Given the description of an element on the screen output the (x, y) to click on. 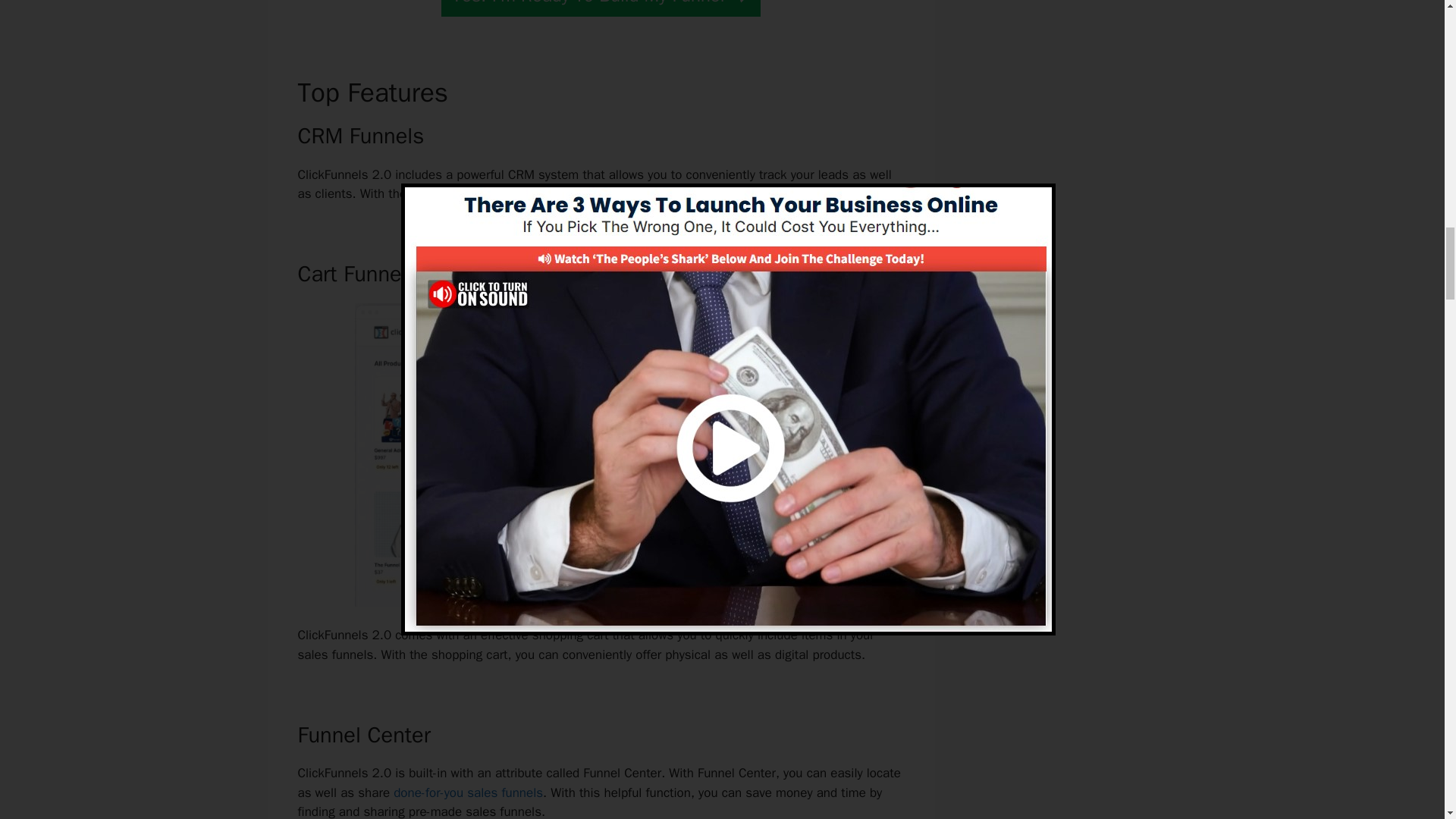
done-for-you sales funnels (468, 792)
